Given the description of an element on the screen output the (x, y) to click on. 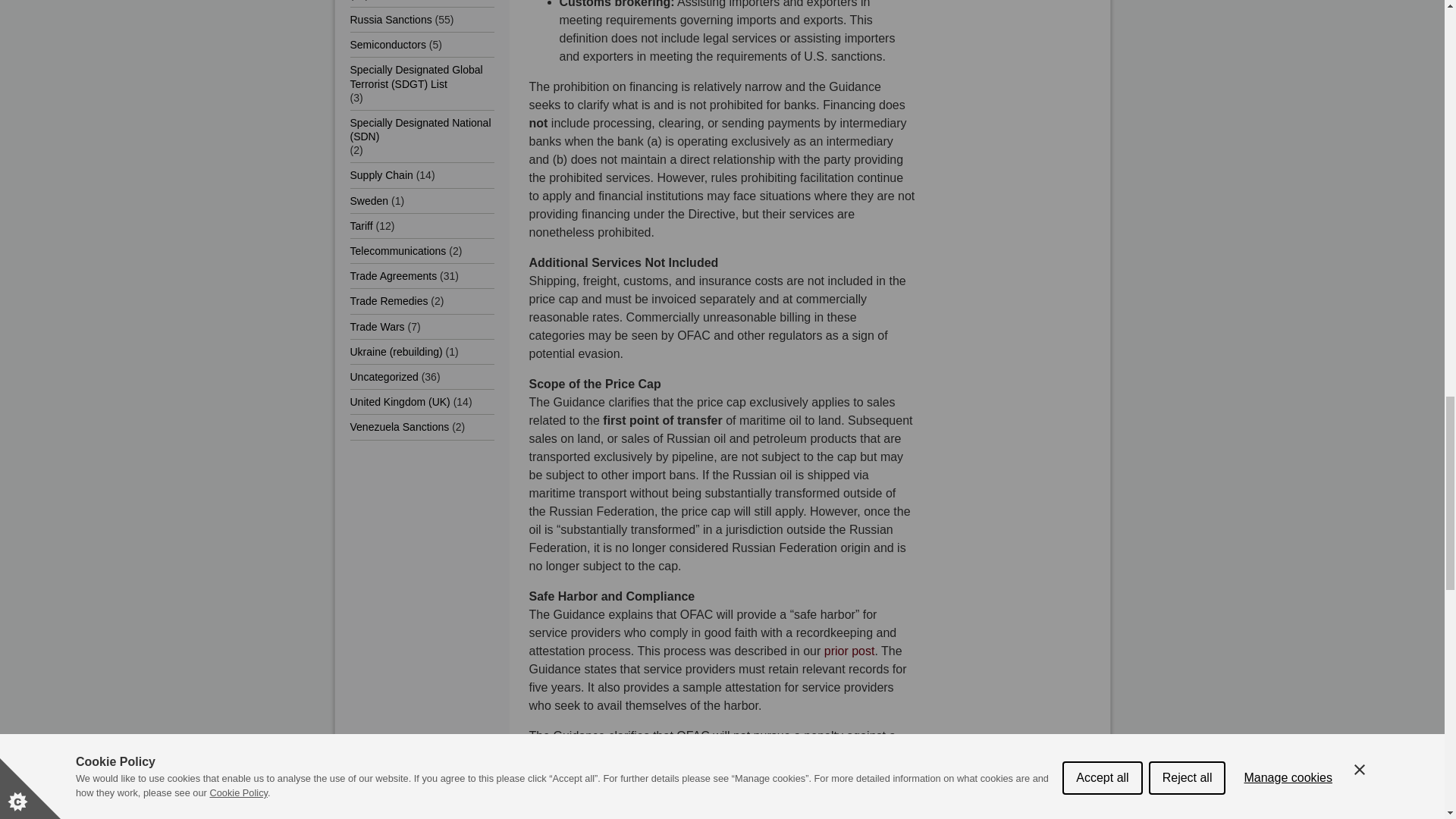
prior post (849, 650)
